Given the description of an element on the screen output the (x, y) to click on. 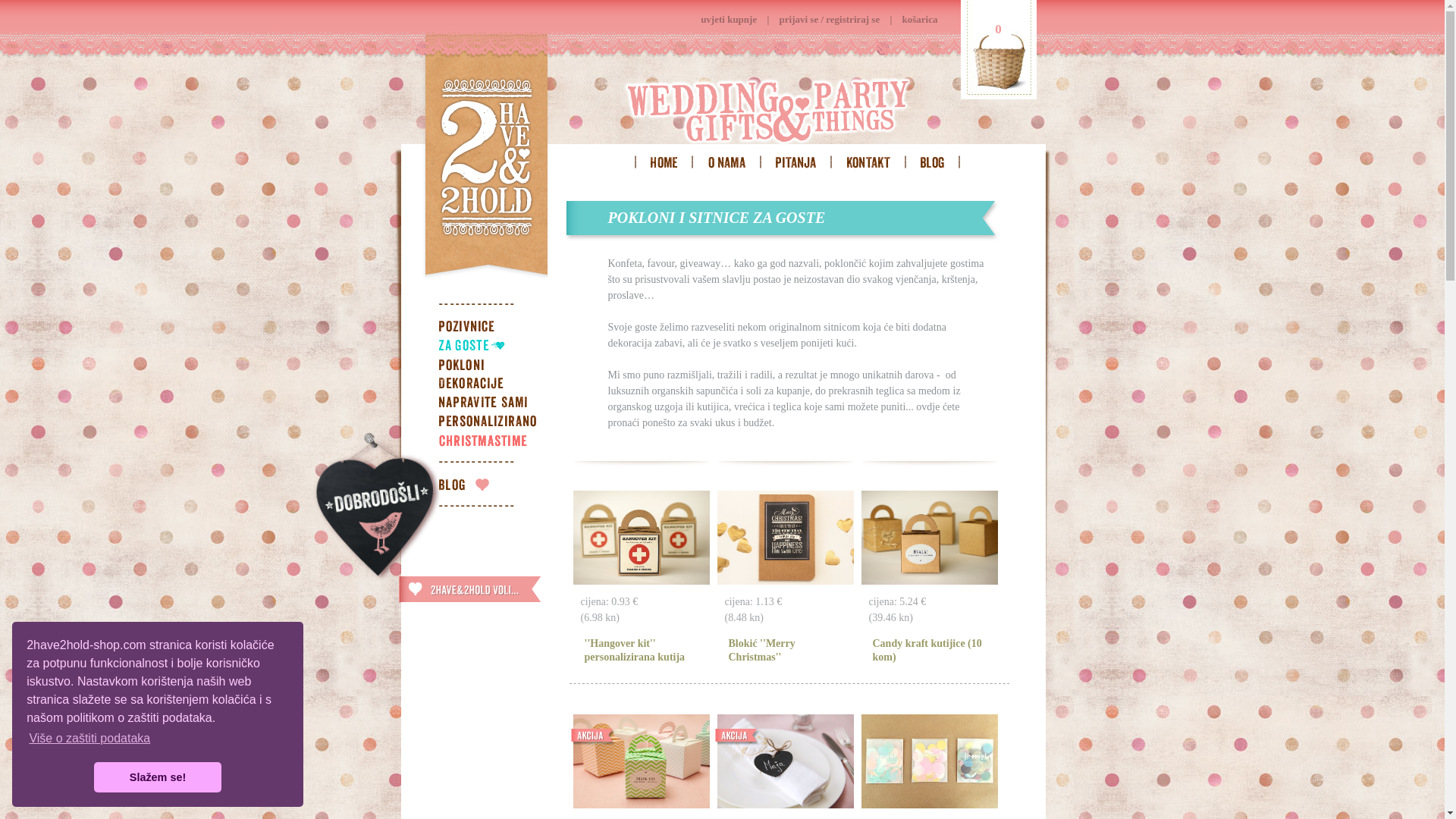
Pokloni za goste Element type: hover (495, 346)
0 Element type: text (997, 49)
Dekoracija stola i ostale dekoracije Element type: hover (495, 384)
Originalni pokloni Element type: hover (495, 365)
''Hangover kit'' personalizirana kutija Element type: text (633, 649)
Candy kraft kutijice (10 kom) Element type: text (926, 649)
Personalizirane sitnice Element type: hover (495, 422)
Naljepnice, privjesci, trake... Element type: hover (495, 403)
prijavi se / registriraj se Element type: text (829, 19)
uvjeti kupnje Element type: text (728, 19)
